Given the description of an element on the screen output the (x, y) to click on. 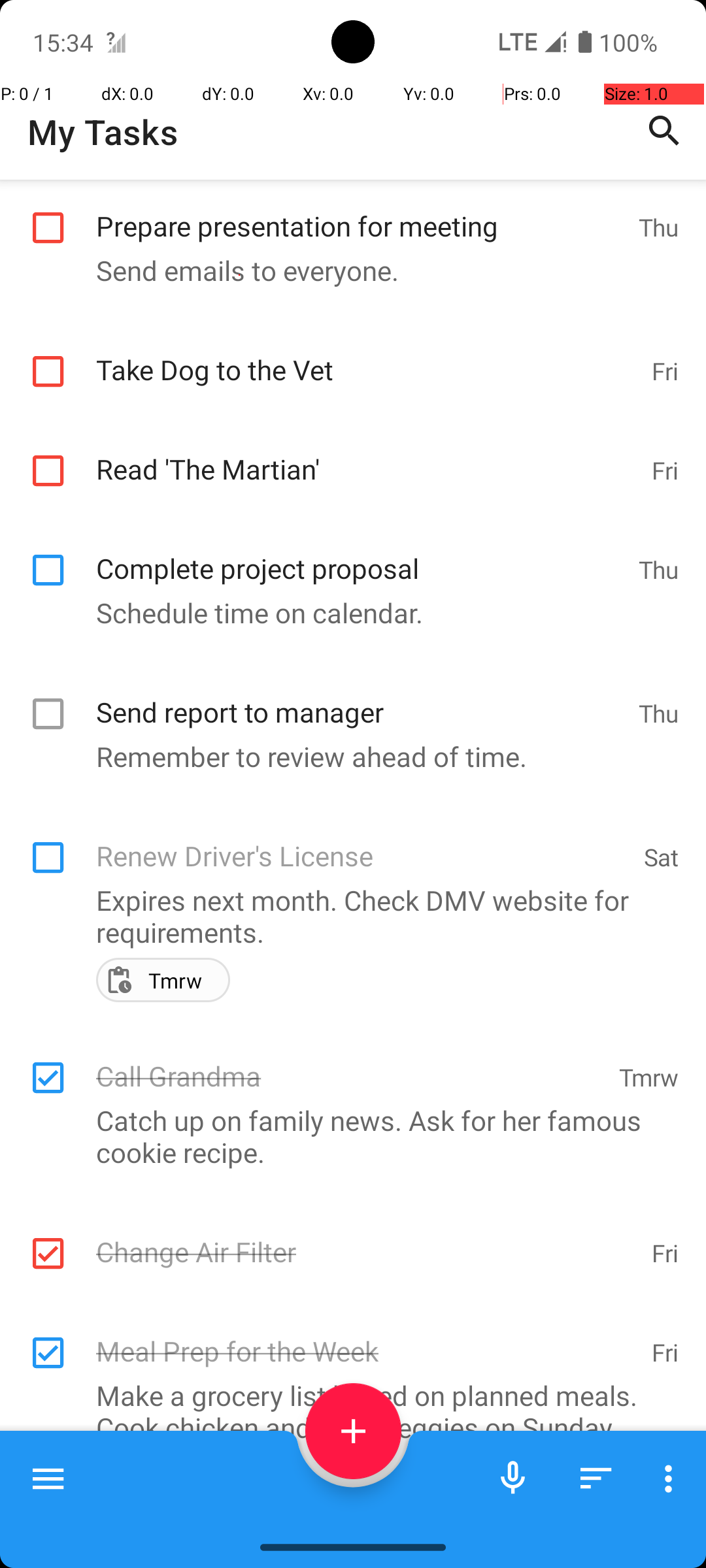
Prepare presentation for meeting Element type: android.widget.TextView (360, 211)
Send emails to everyone. Element type: android.widget.TextView (346, 269)
Complete project proposal Element type: android.widget.TextView (360, 554)
Schedule time on calendar. Element type: android.widget.TextView (346, 612)
Send report to manager Element type: android.widget.TextView (360, 697)
Remember to review ahead of time. Element type: android.widget.TextView (346, 755)
Make a grocery list based on planned meals. Cook chicken and chop veggies on Sunday. Element type: android.widget.TextView (346, 1410)
